Given the description of an element on the screen output the (x, y) to click on. 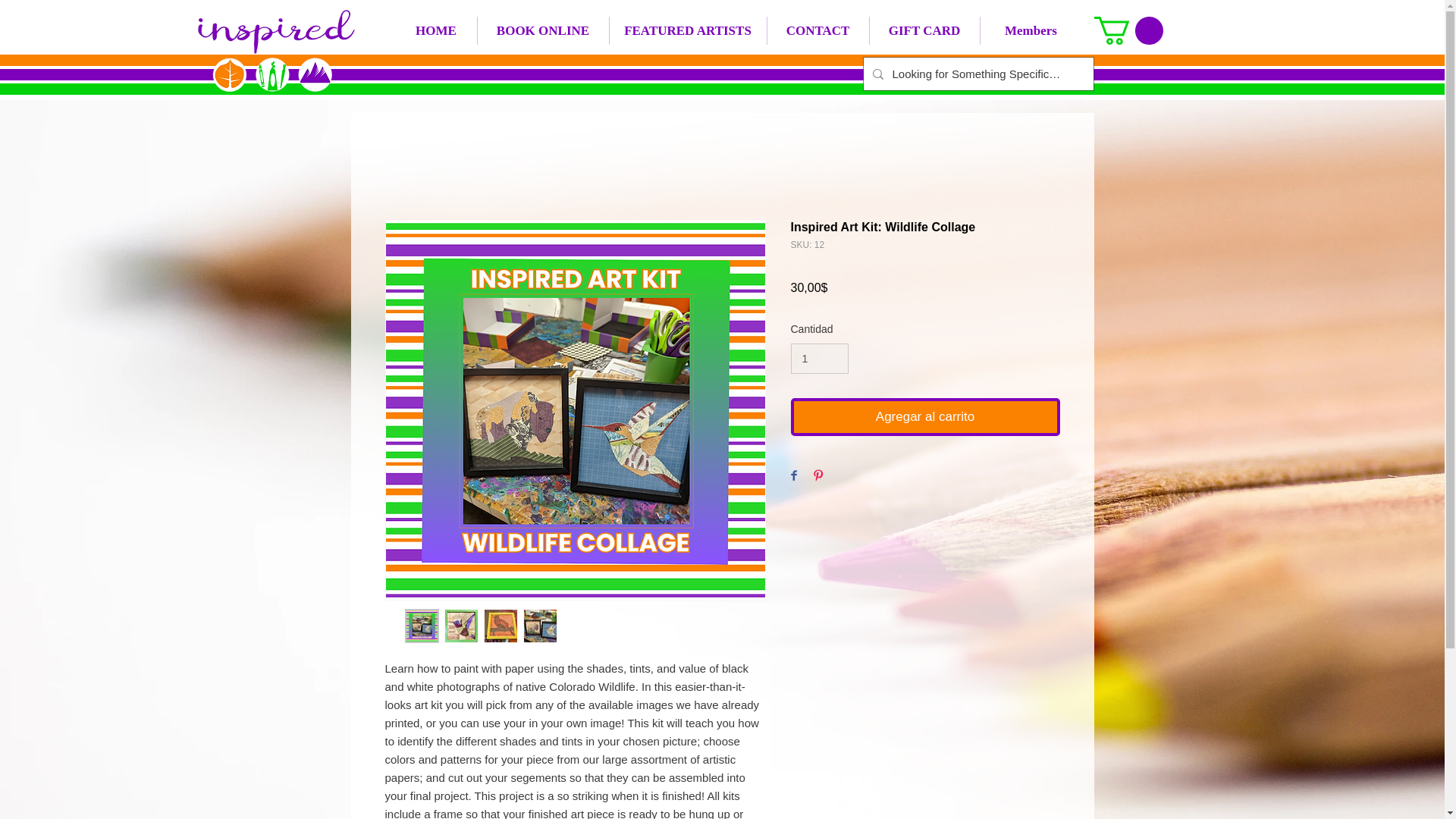
GIFT CARD (923, 30)
FEATURED ARTISTS (688, 30)
CONTACT (818, 30)
Agregar al carrito (924, 416)
Members (1030, 30)
1 (818, 358)
HOME (436, 30)
BOOK ONLINE (542, 30)
